Given the description of an element on the screen output the (x, y) to click on. 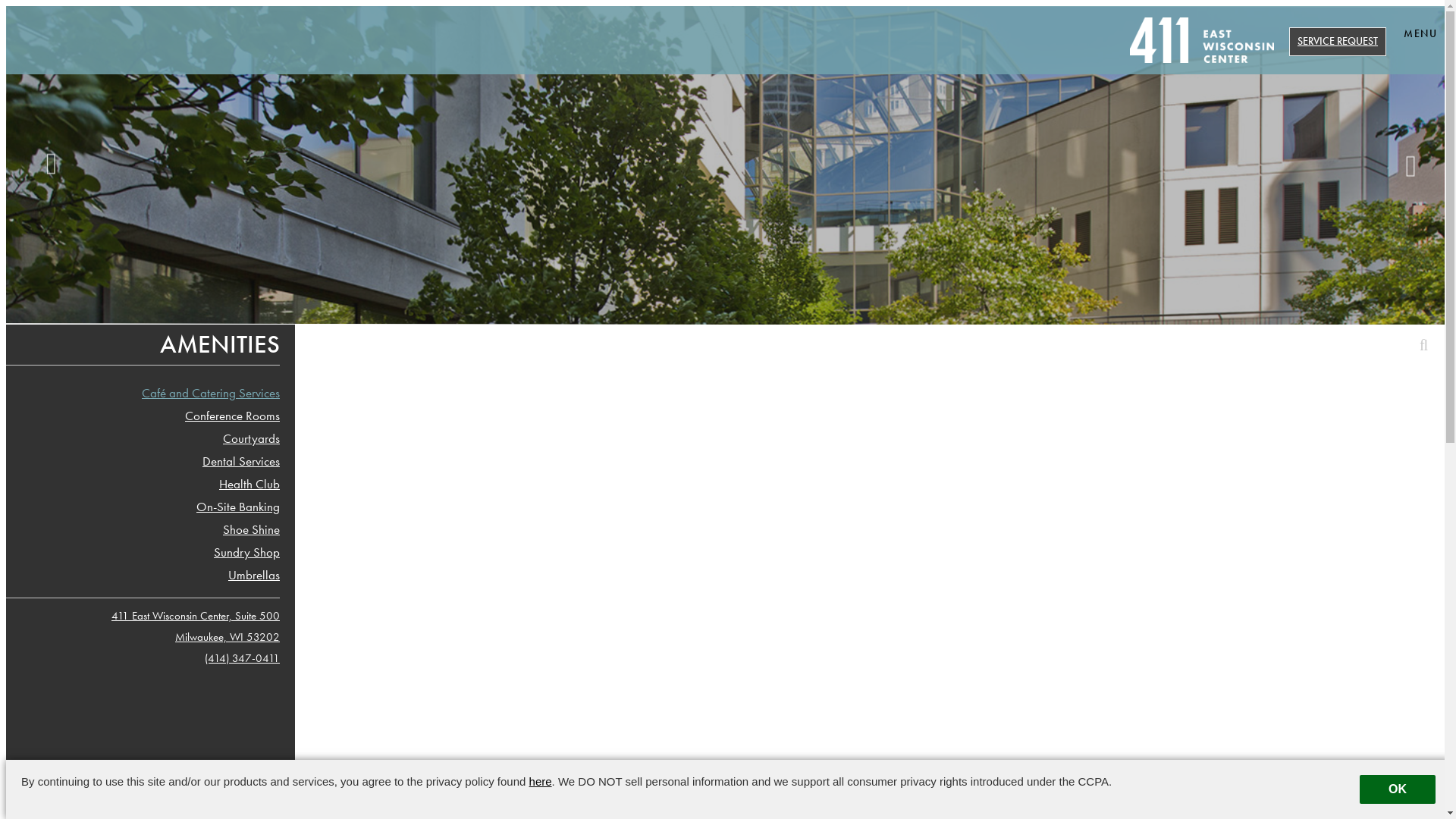
Previous Element type: text (51, 163)
Next Element type: text (1404, 166)
(414) 347-0411 Element type: text (241, 657)
Shoe Shine Element type: text (150, 528)
Umbrellas Element type: text (150, 574)
Health Club Element type: text (150, 483)
411 East Wisconsin Center, Suite 500
Milwaukee, WI 53202 Element type: text (195, 626)
On-Site Banking Element type: text (150, 506)
Dental Services Element type: text (150, 460)
SERVICE REQUEST Element type: text (1337, 41)
Conference Rooms Element type: text (150, 415)
MENU Element type: text (1420, 34)
Sundry Shop Element type: text (150, 551)
here Element type: text (540, 781)
Courtyards Element type: text (150, 437)
